Given the description of an element on the screen output the (x, y) to click on. 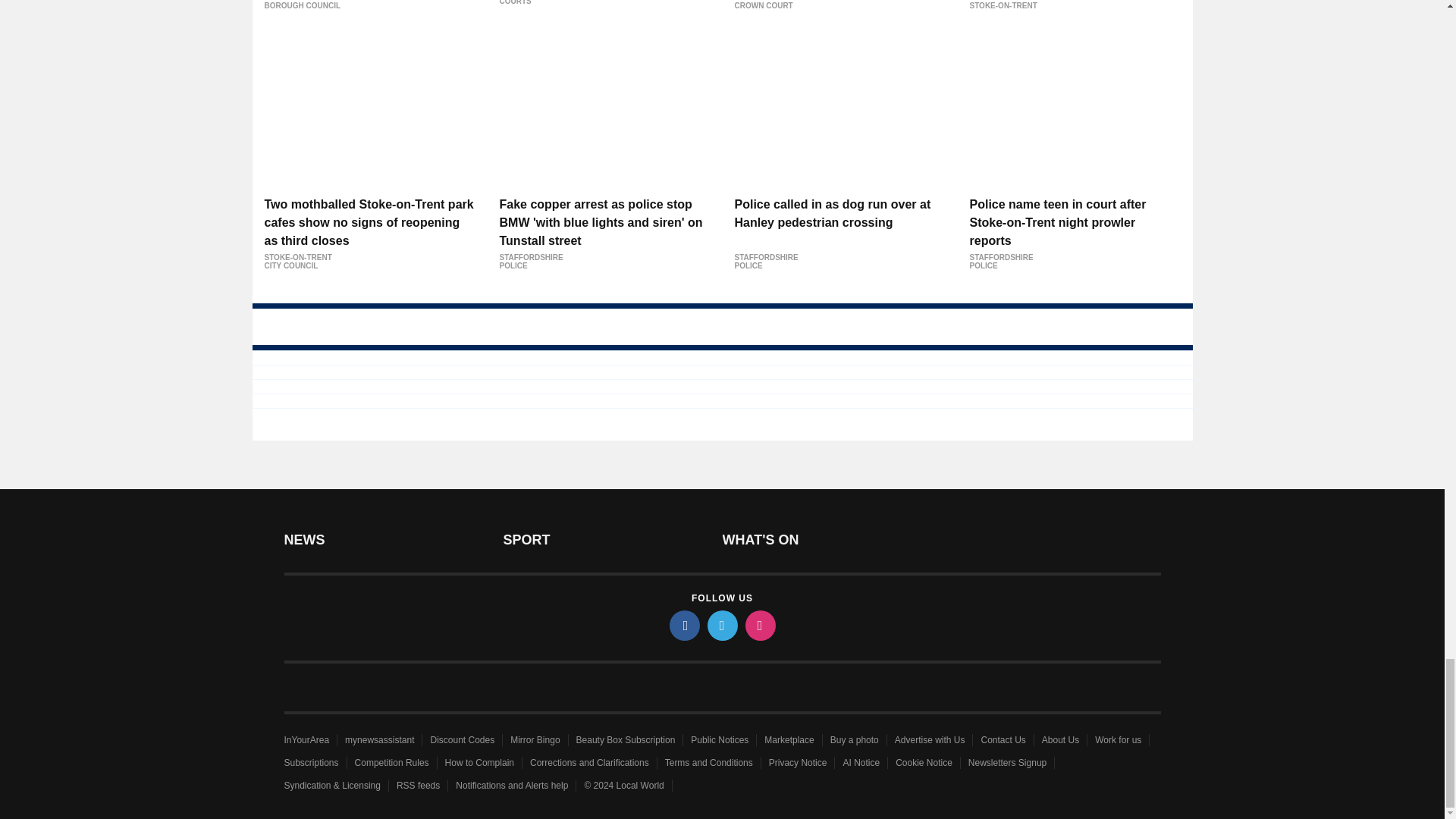
twitter (721, 625)
instagram (759, 625)
facebook (683, 625)
